Given the description of an element on the screen output the (x, y) to click on. 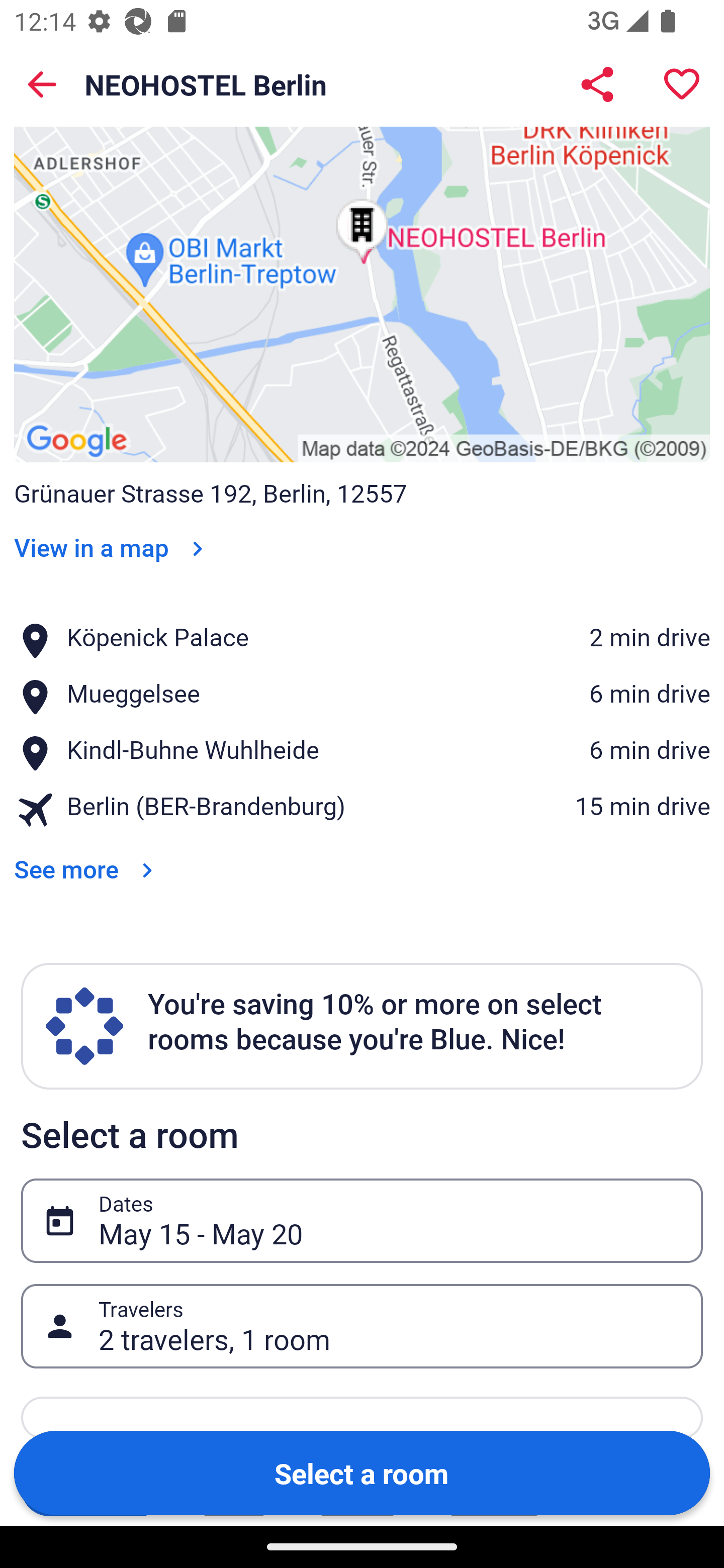
Back (42, 84)
Save property to a trip (681, 84)
Share NEOHOSTEL Berlin (597, 84)
See more (86, 855)
May 15 - May 20 (390, 1220)
2 travelers, 1 room (390, 1326)
Select a room Button Select a room (361, 1472)
